Given the description of an element on the screen output the (x, y) to click on. 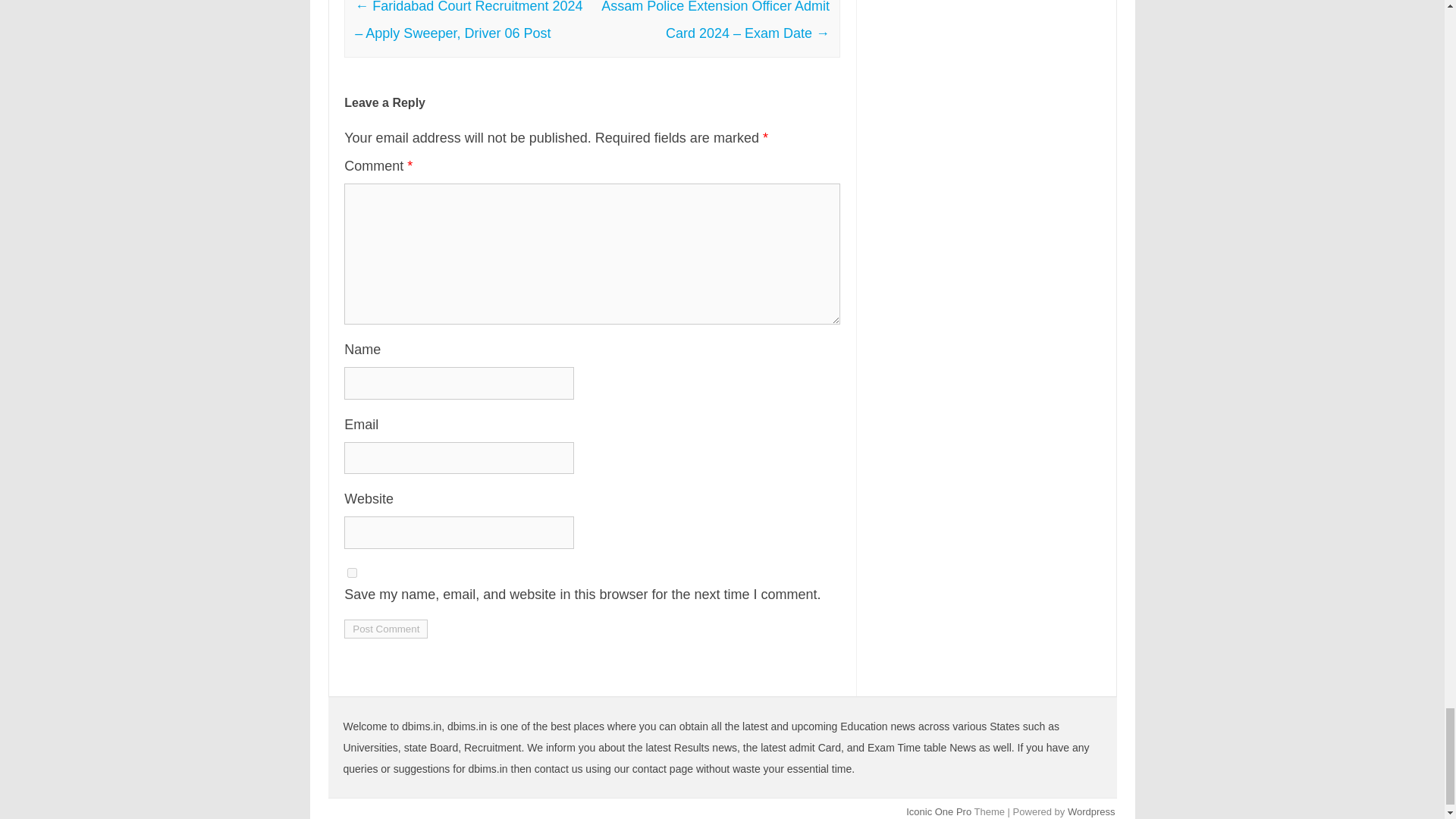
yes (351, 573)
Post Comment (385, 628)
Post Comment (385, 628)
